Given the description of an element on the screen output the (x, y) to click on. 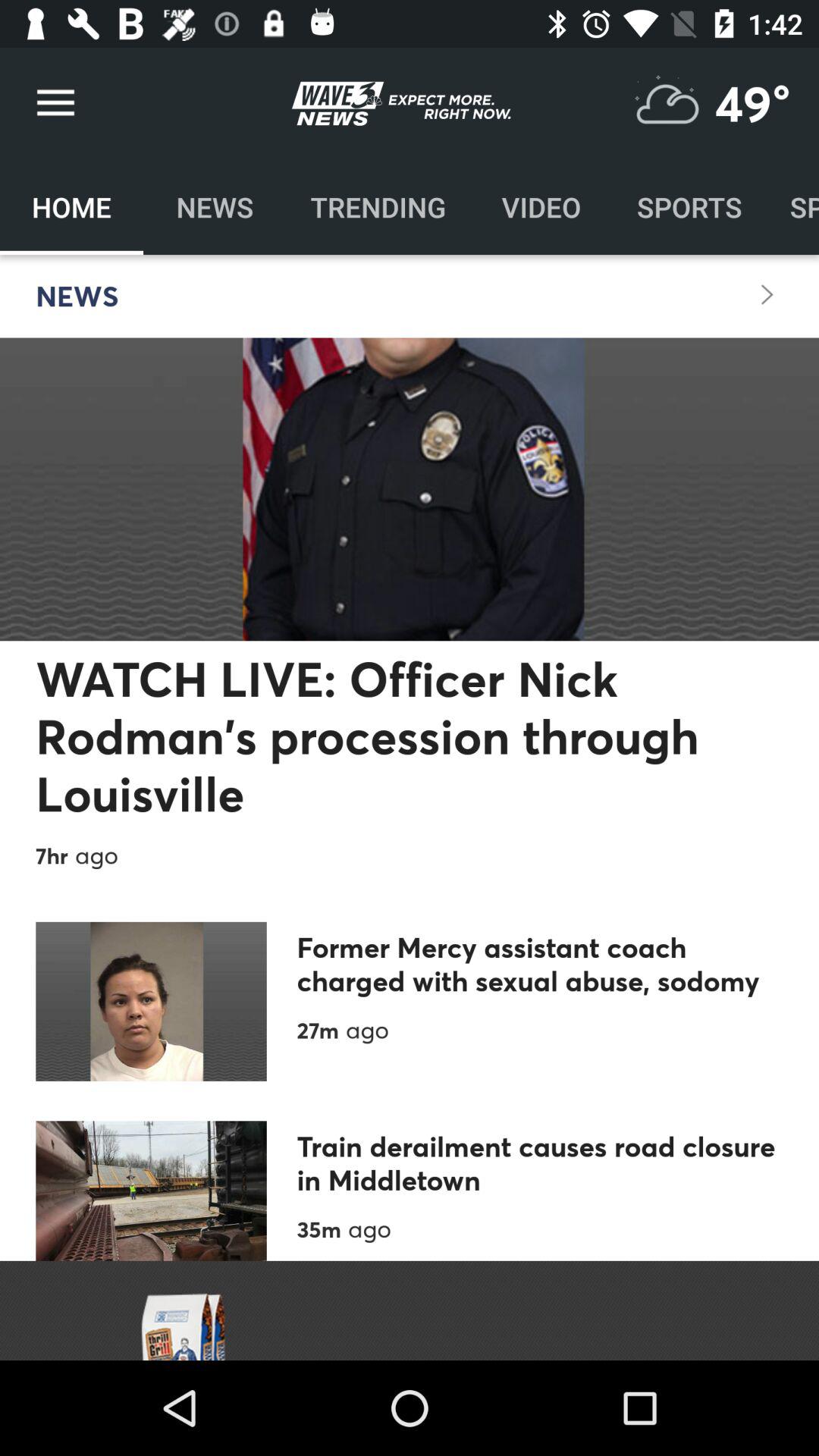
advert (409, 1310)
